Given the description of an element on the screen output the (x, y) to click on. 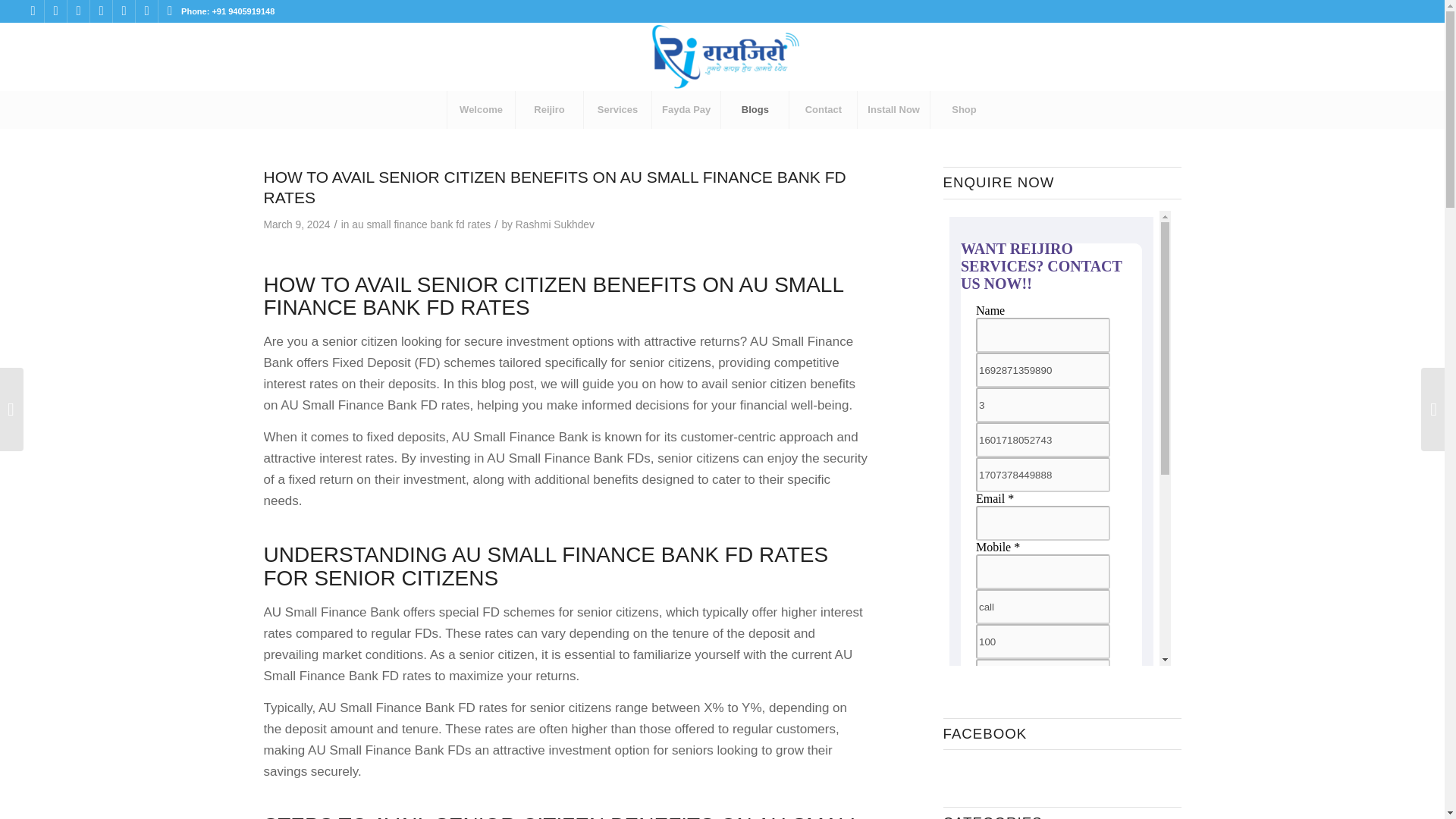
au small finance bank fd rates (421, 224)
Twitter (77, 11)
Reijiro (549, 109)
Pinterest (146, 11)
Posts by Rashmi Sukhdev (554, 224)
Youtube (124, 11)
Facebook (32, 11)
Blogs (754, 109)
LinkedIn (101, 11)
Shop (963, 109)
